Given the description of an element on the screen output the (x, y) to click on. 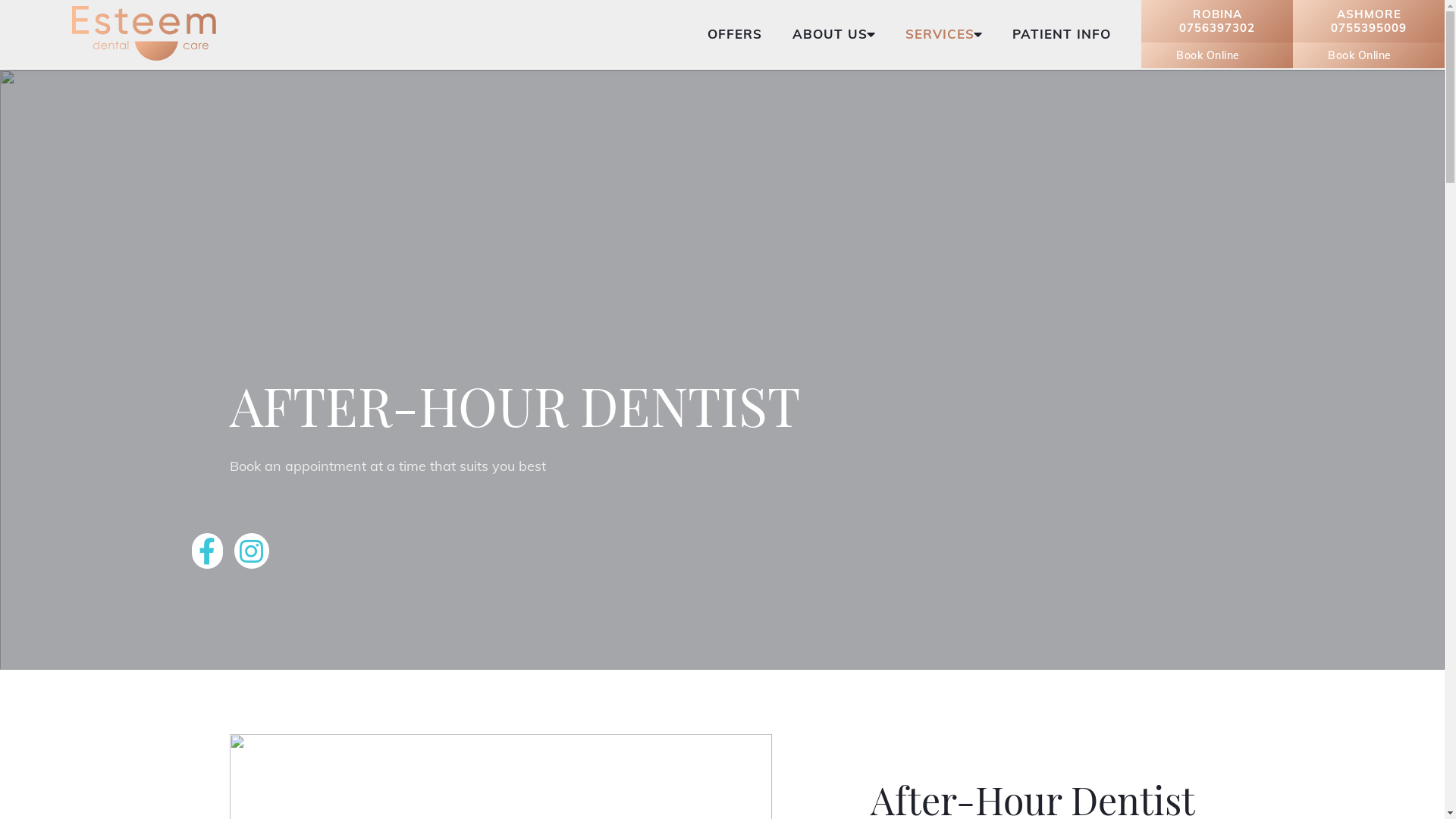
ABOUT US Element type: text (829, 34)
ROBINA
0756397302 Element type: text (1216, 21)
ASHMORE
0755395009 Element type: text (1368, 21)
OFFERS Element type: text (734, 34)
Book Online Element type: text (1216, 55)
PATIENT INFO Element type: text (1061, 34)
SERVICES Element type: text (939, 34)
Book Online Element type: text (1368, 55)
